Given the description of an element on the screen output the (x, y) to click on. 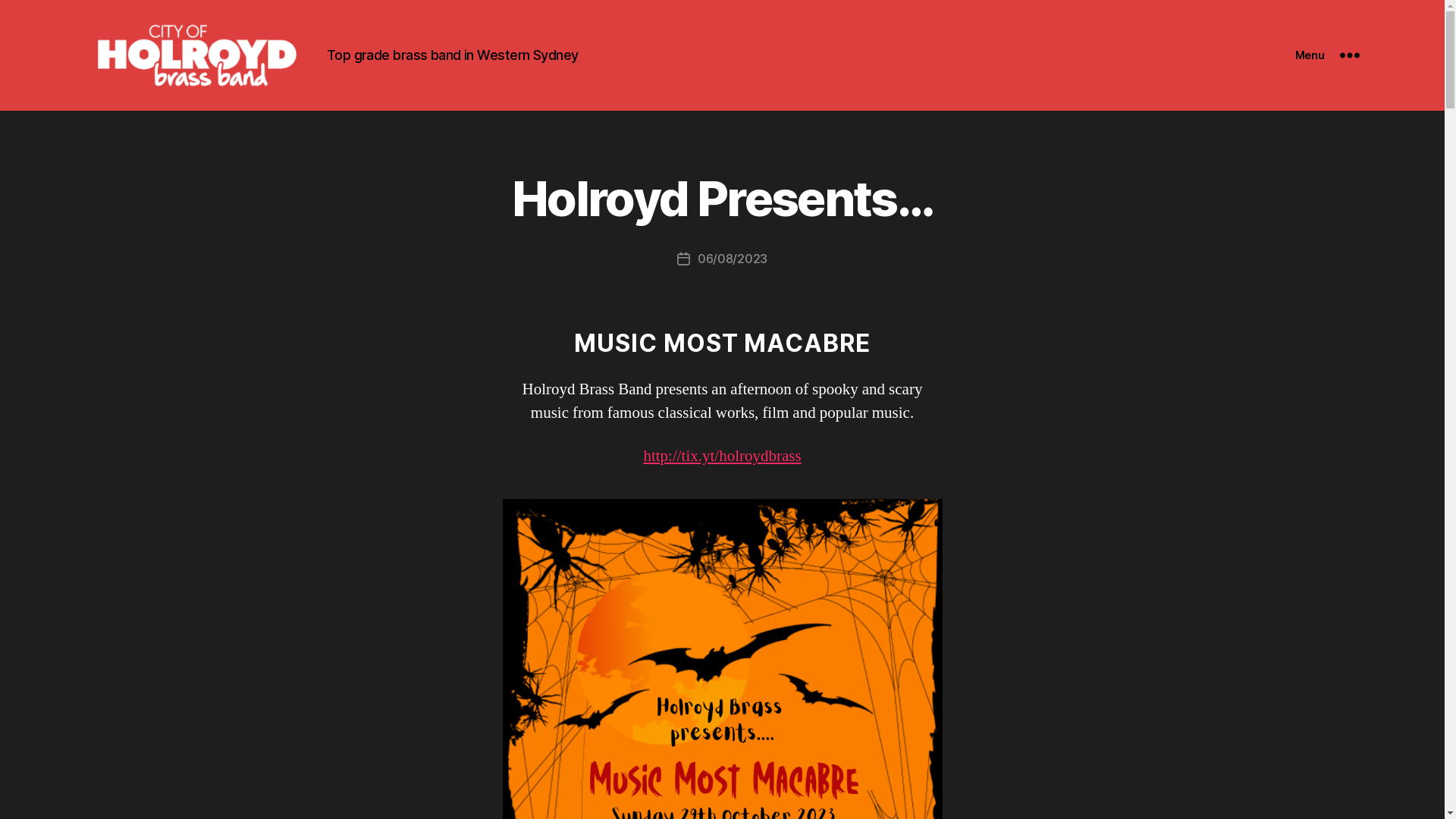
Menu Element type: text (1327, 55)
UNCATEGORIZED Element type: text (343, 264)
06/08/2023 Element type: text (732, 258)
http://tix.yt/holroydbrass Element type: text (721, 455)
